Given the description of an element on the screen output the (x, y) to click on. 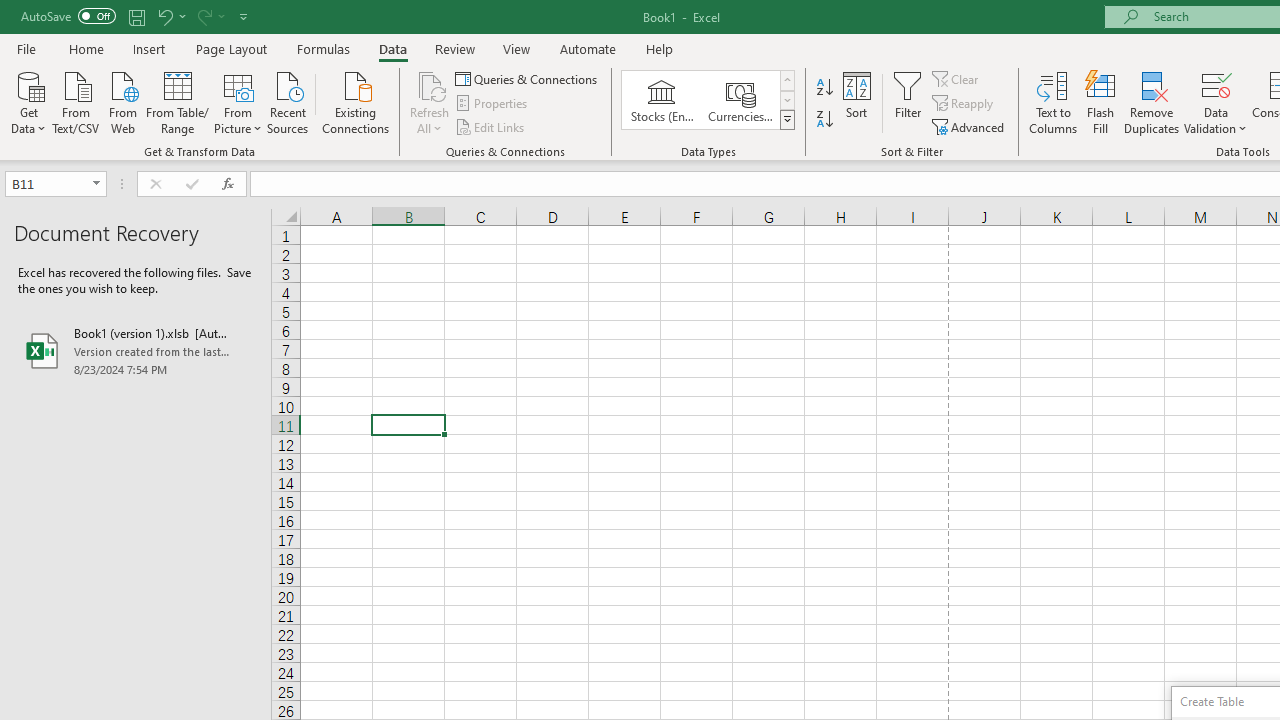
Sort Z to A (824, 119)
Existing Connections (355, 101)
Data Validation... (1215, 84)
Class: NetUIImage (787, 119)
Refresh All (429, 102)
AutomationID: ConvertToLinkedEntity (708, 99)
Recent Sources (287, 101)
Data Types (786, 120)
